Given the description of an element on the screen output the (x, y) to click on. 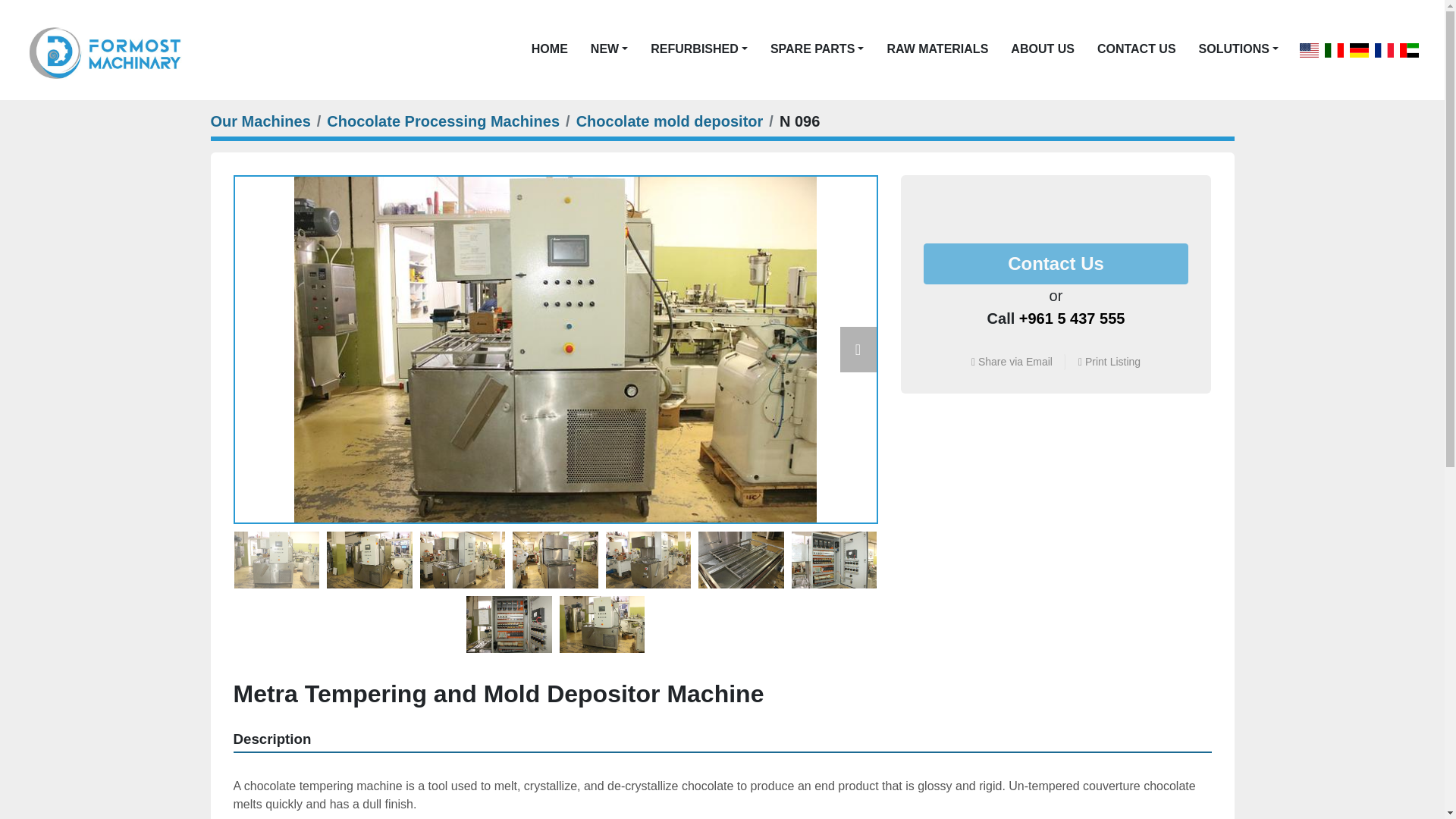
NEW (604, 49)
HOME (549, 49)
REFURBISHED (694, 49)
